Given the description of an element on the screen output the (x, y) to click on. 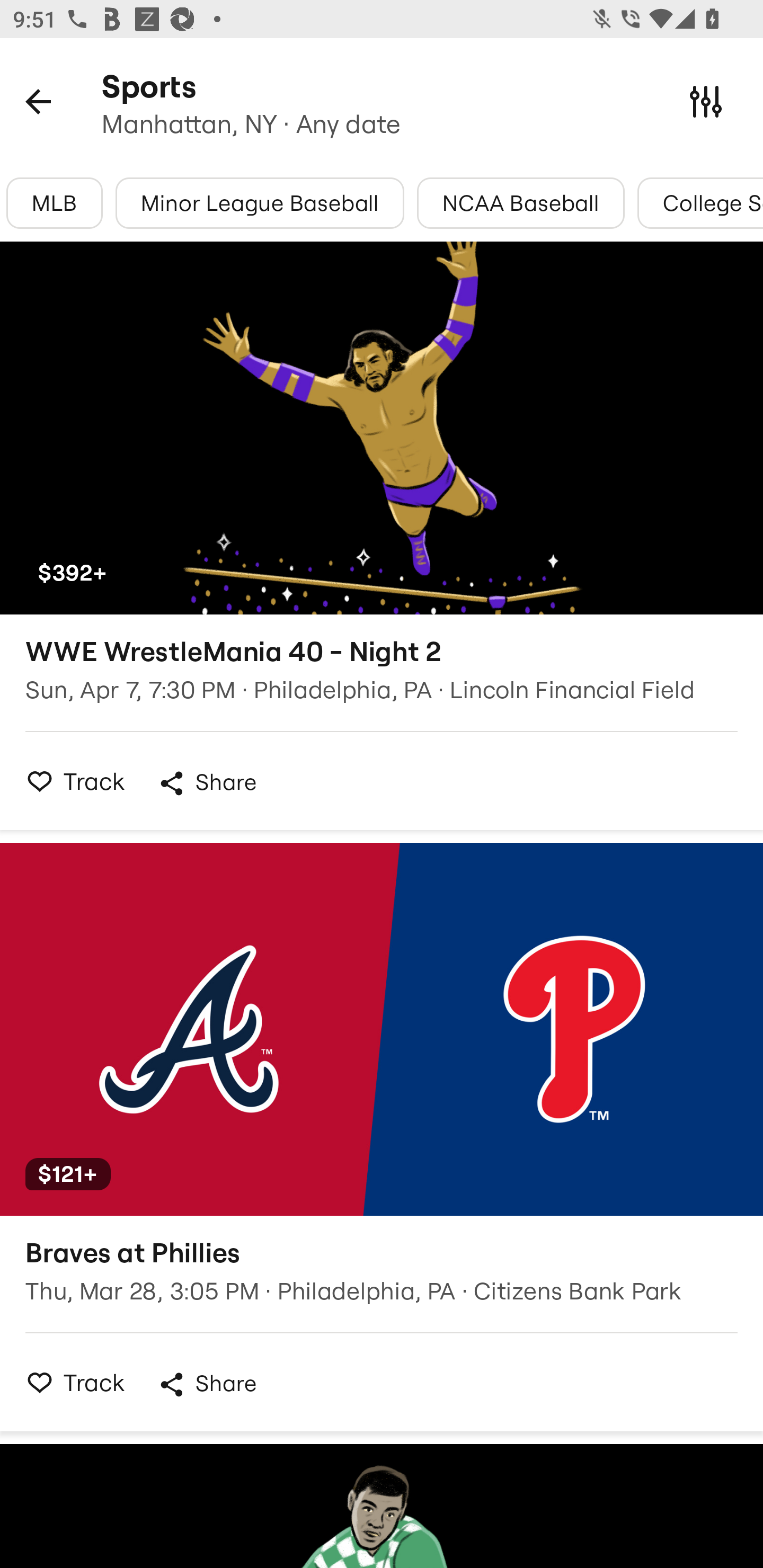
Back (38, 100)
Filters (705, 100)
MLB (54, 202)
Minor League Baseball (259, 202)
NCAA Baseball (520, 202)
College Softball (700, 202)
Track (70, 780)
Share (207, 783)
Track (70, 1381)
Share (207, 1384)
